Given the description of an element on the screen output the (x, y) to click on. 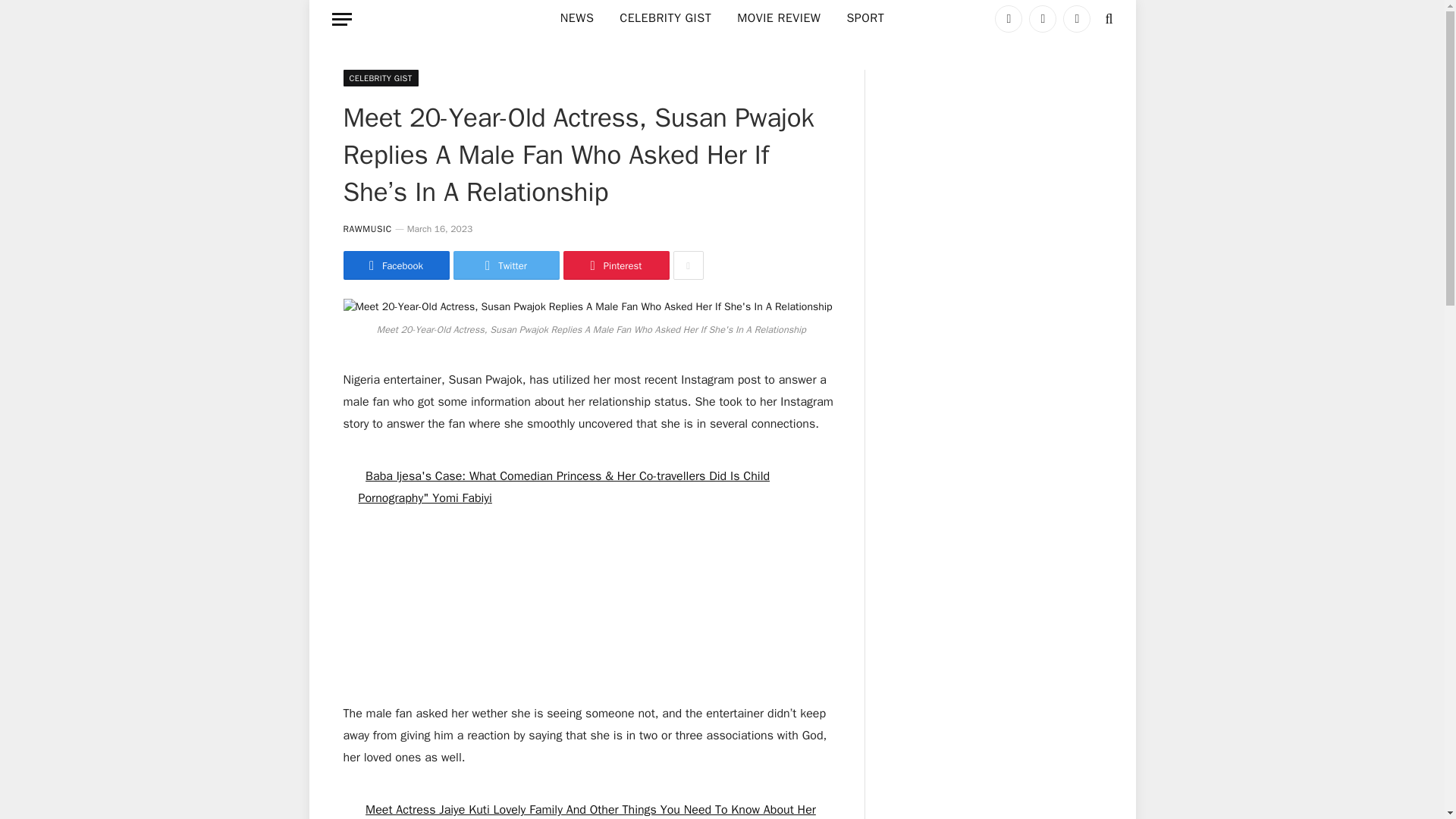
NEWS (577, 18)
SPORT (864, 18)
CELEBRITY GIST (379, 77)
Pinterest (615, 265)
RAWMUSIC (366, 228)
MOVIE REVIEW (777, 18)
Instagram (1076, 18)
Posts by RAWMUSIC (366, 228)
Share on Facebook (395, 265)
Twitter (505, 265)
